Given the description of an element on the screen output the (x, y) to click on. 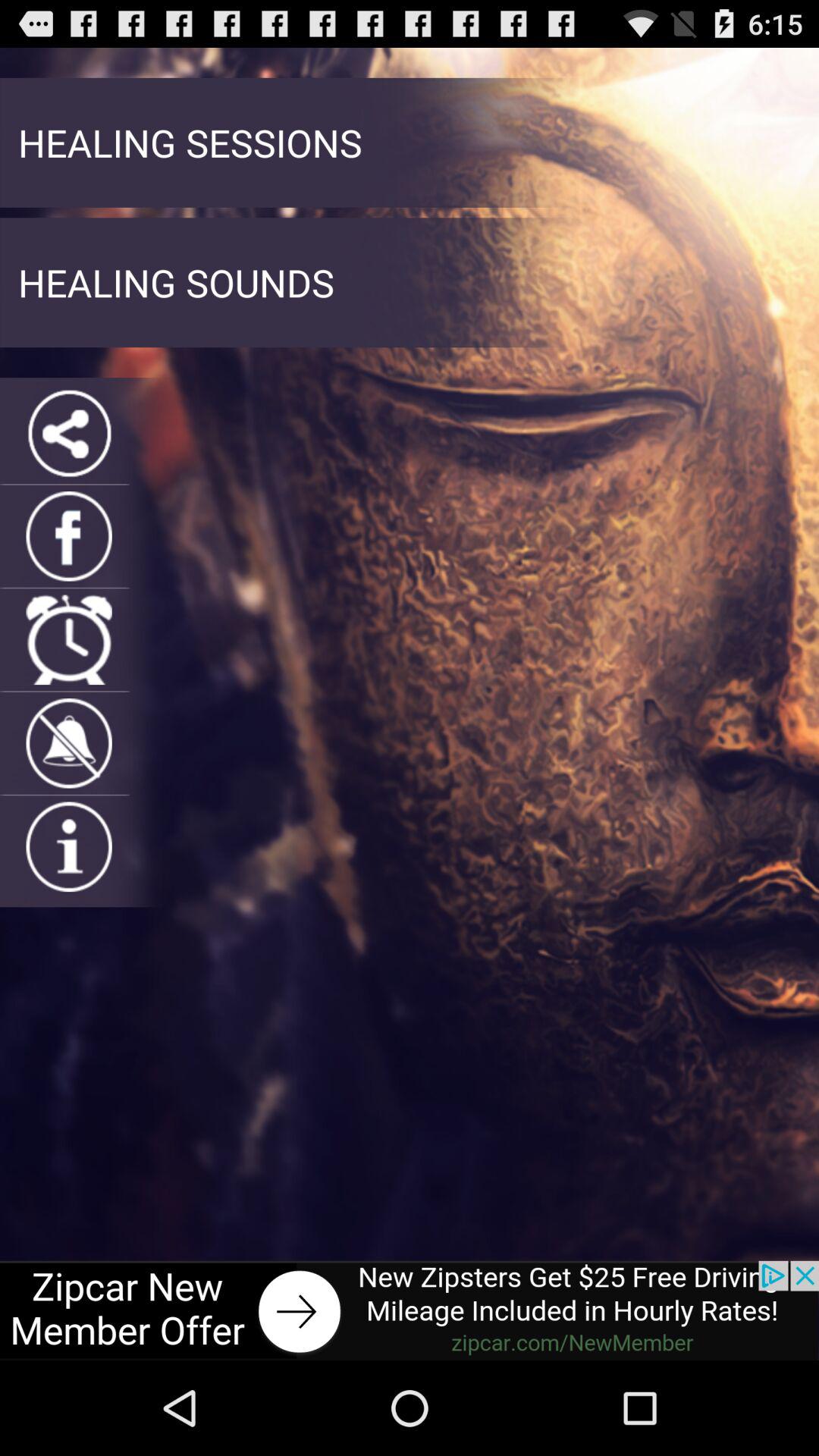
interest of like picture (69, 846)
